Given the description of an element on the screen output the (x, y) to click on. 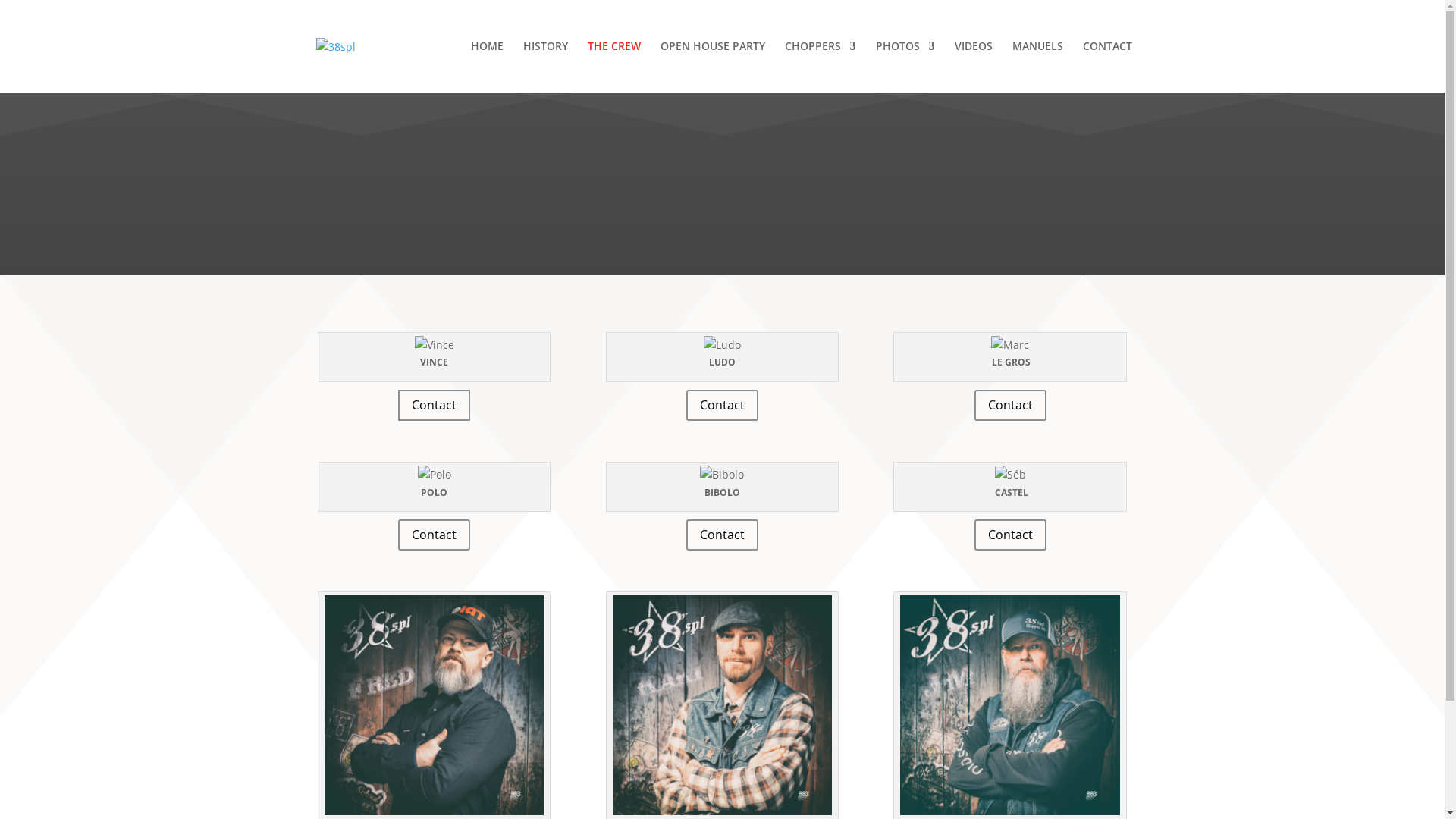
Contact Element type: text (722, 404)
Contact Element type: text (434, 534)
Contact Element type: text (1010, 404)
OPEN HOUSE PARTY Element type: text (711, 66)
HISTORY Element type: text (545, 66)
CONTACT Element type: text (1107, 66)
PHOTOS Element type: text (904, 66)
Contact Element type: text (1010, 534)
Contact Element type: text (434, 404)
MANUELS Element type: text (1036, 66)
THE CREW Element type: text (613, 66)
Contact Element type: text (722, 534)
HOME Element type: text (486, 66)
CHOPPERS Element type: text (819, 66)
VIDEOS Element type: text (972, 66)
